Given the description of an element on the screen output the (x, y) to click on. 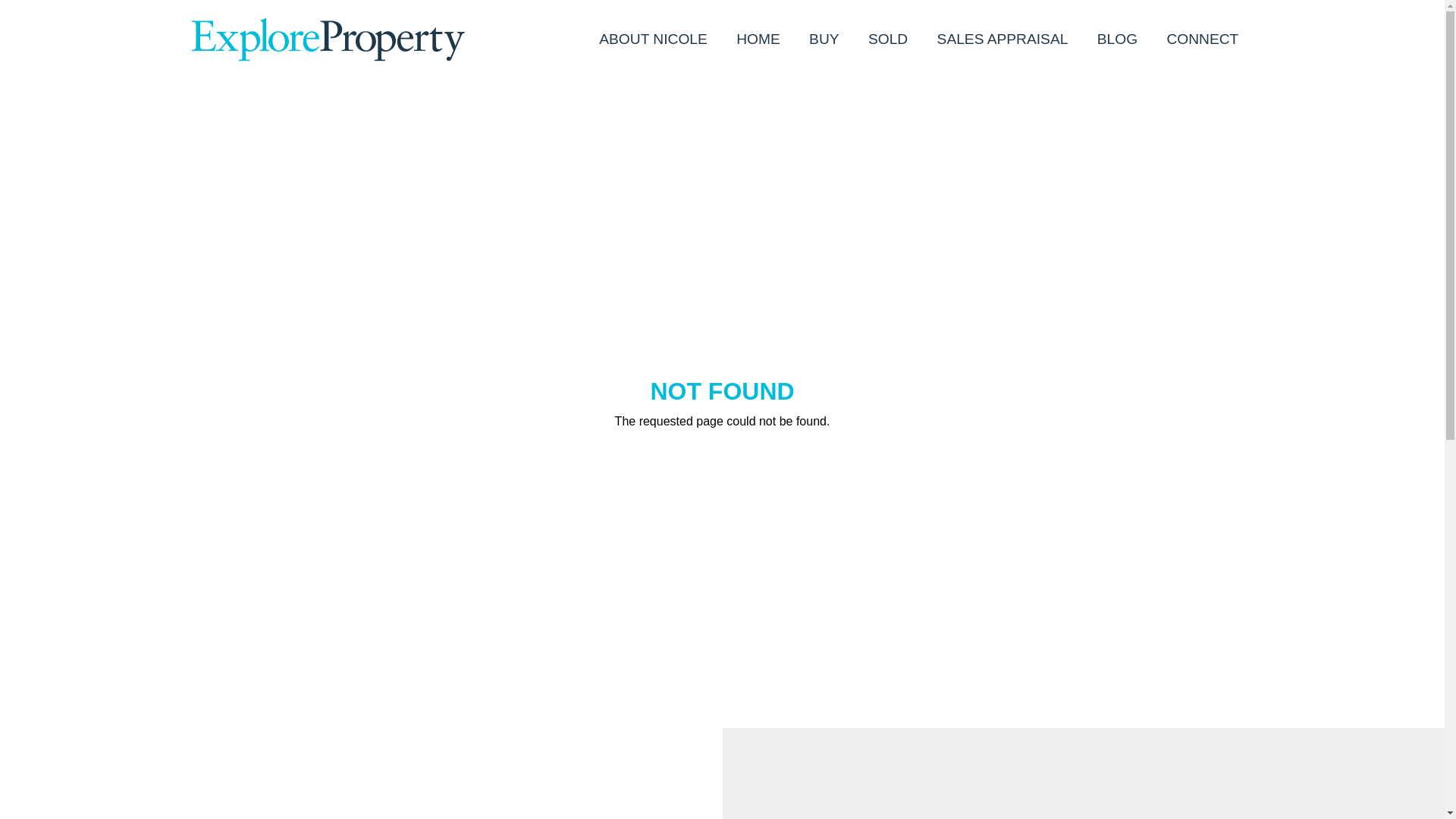
ABOUT NICOLE Element type: text (652, 39)
HOME Element type: text (757, 39)
CONNECT Element type: text (1201, 39)
BLOG Element type: text (1117, 39)
SALES APPRAISAL Element type: text (1002, 39)
BUY Element type: text (823, 39)
SOLD Element type: text (887, 39)
